Given the description of an element on the screen output the (x, y) to click on. 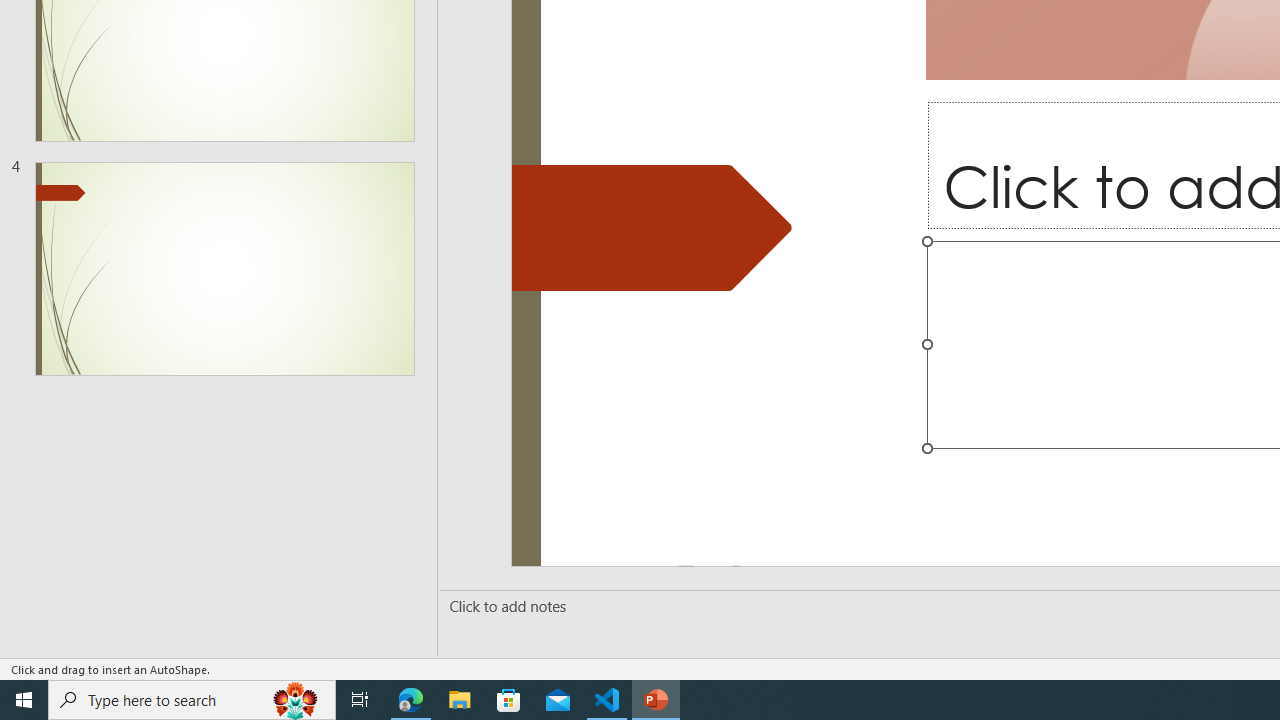
Decorative Locked (652, 227)
